Given the description of an element on the screen output the (x, y) to click on. 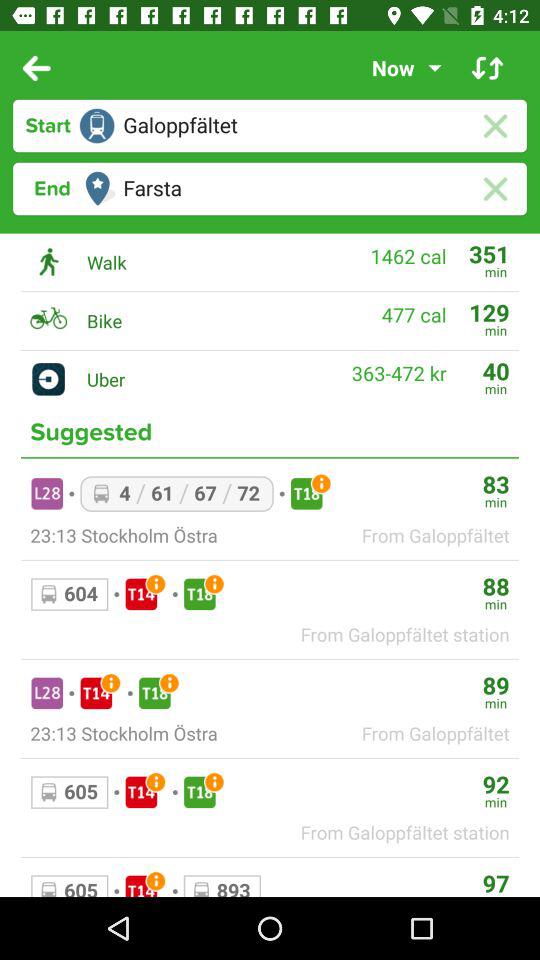
refresh list option (487, 68)
